Given the description of an element on the screen output the (x, y) to click on. 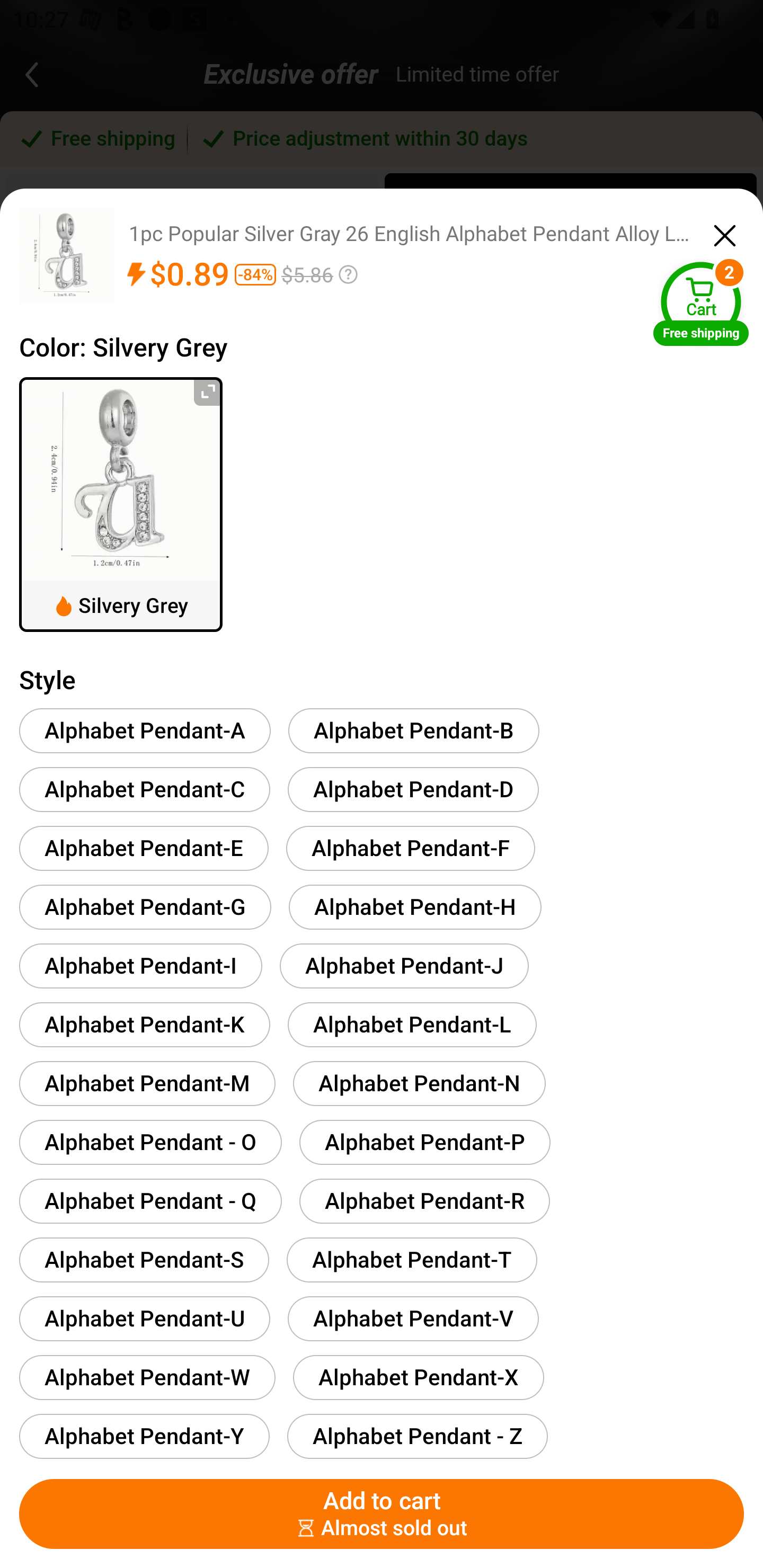
close (724, 232)
Cart Free shipping Cart (701, 303)
Silvery Grey ￼Silvery Grey (120, 504)
 Alphabet Pendant-A (144, 730)
 Alphabet Pendant-B (413, 730)
 Alphabet Pendant-C (144, 789)
 Alphabet Pendant-D (412, 789)
 Alphabet Pendant-E (143, 848)
 Alphabet Pendant-F (410, 848)
 Alphabet Pendant-G (145, 906)
 Alphabet Pendant-H (414, 906)
 Alphabet Pendant-I (140, 965)
 Alphabet Pendant-J (404, 965)
 Alphabet Pendant-K (144, 1024)
 Alphabet Pendant-L (411, 1024)
 Alphabet Pendant-M (147, 1083)
 Alphabet Pendant-N (418, 1083)
 Alphabet Pendant - O (150, 1142)
 Alphabet Pendant-P (424, 1142)
 Alphabet Pendant - Q (150, 1201)
 Alphabet Pendant-R (424, 1201)
 Alphabet Pendant-S (144, 1259)
 Alphabet Pendant-T (411, 1259)
 Alphabet Pendant-U (144, 1318)
 Alphabet Pendant-V (412, 1318)
 Alphabet Pendant-W (147, 1377)
 Alphabet Pendant-X (418, 1377)
 Alphabet Pendant-Y (144, 1436)
 Alphabet Pendant - Z (416, 1436)
Add to cart ￼￼Almost sold out (381, 1513)
